Given the description of an element on the screen output the (x, y) to click on. 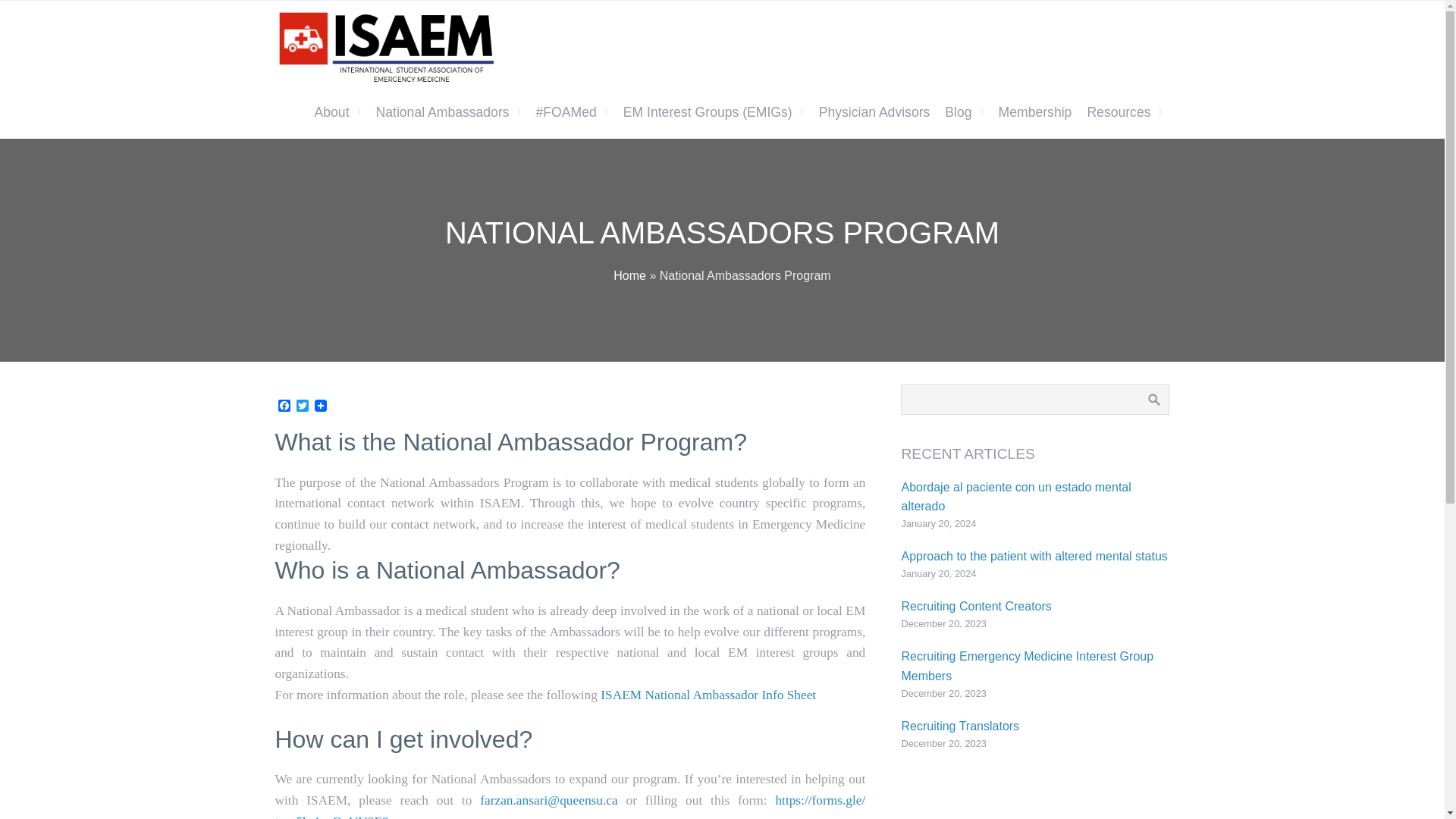
Facebook (283, 406)
Blog (963, 112)
National Ambassadors (448, 112)
Twitter (301, 406)
Physician Advisors (873, 112)
About (337, 112)
